Given the description of an element on the screen output the (x, y) to click on. 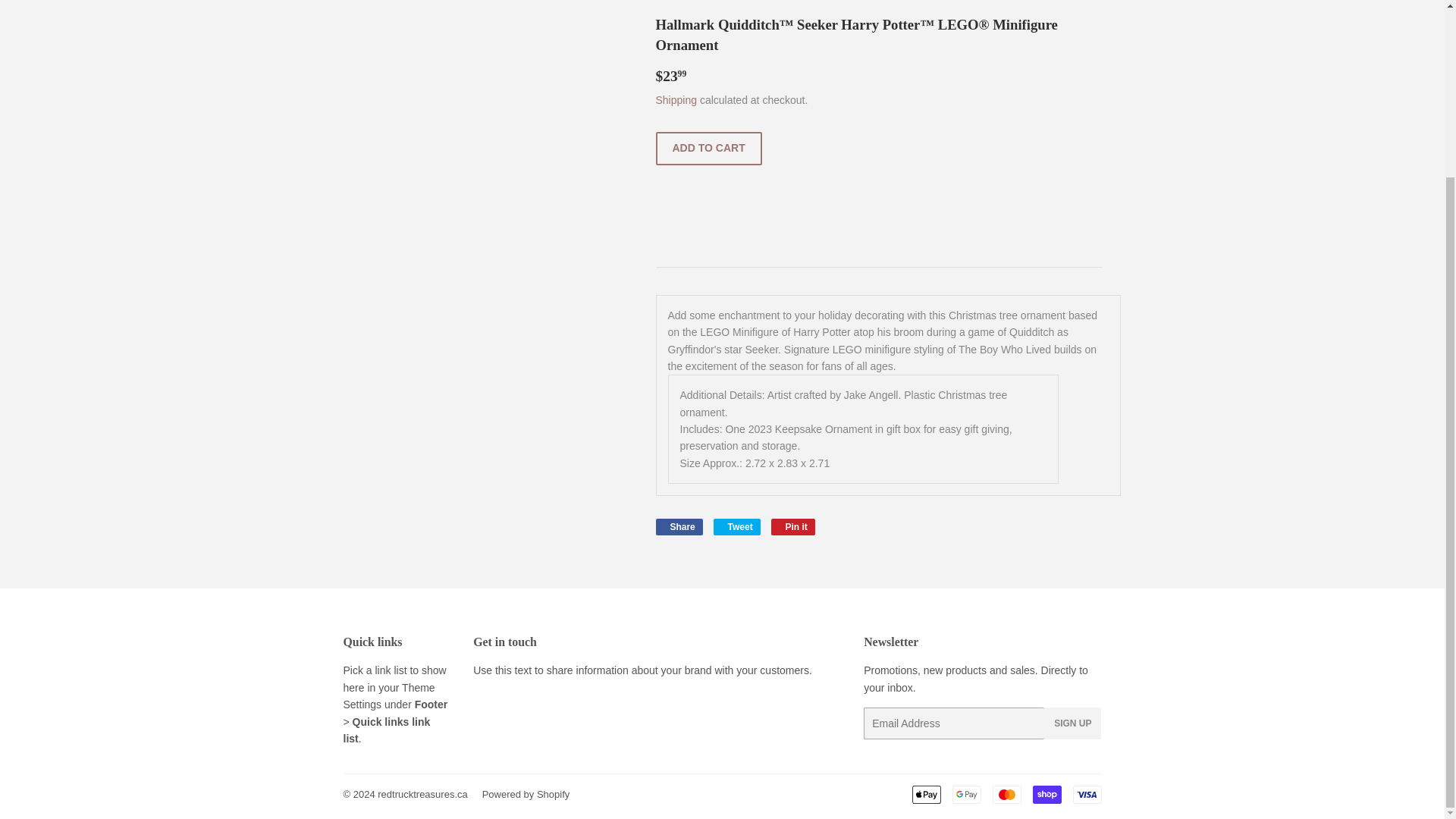
Share on Facebook (678, 526)
redtrucktreasures.ca (422, 794)
Tweet on Twitter (736, 526)
Mastercard (1005, 794)
Shipping (676, 100)
Apple Pay (678, 526)
Visa (793, 526)
Powered by Shopify (925, 794)
